Given the description of an element on the screen output the (x, y) to click on. 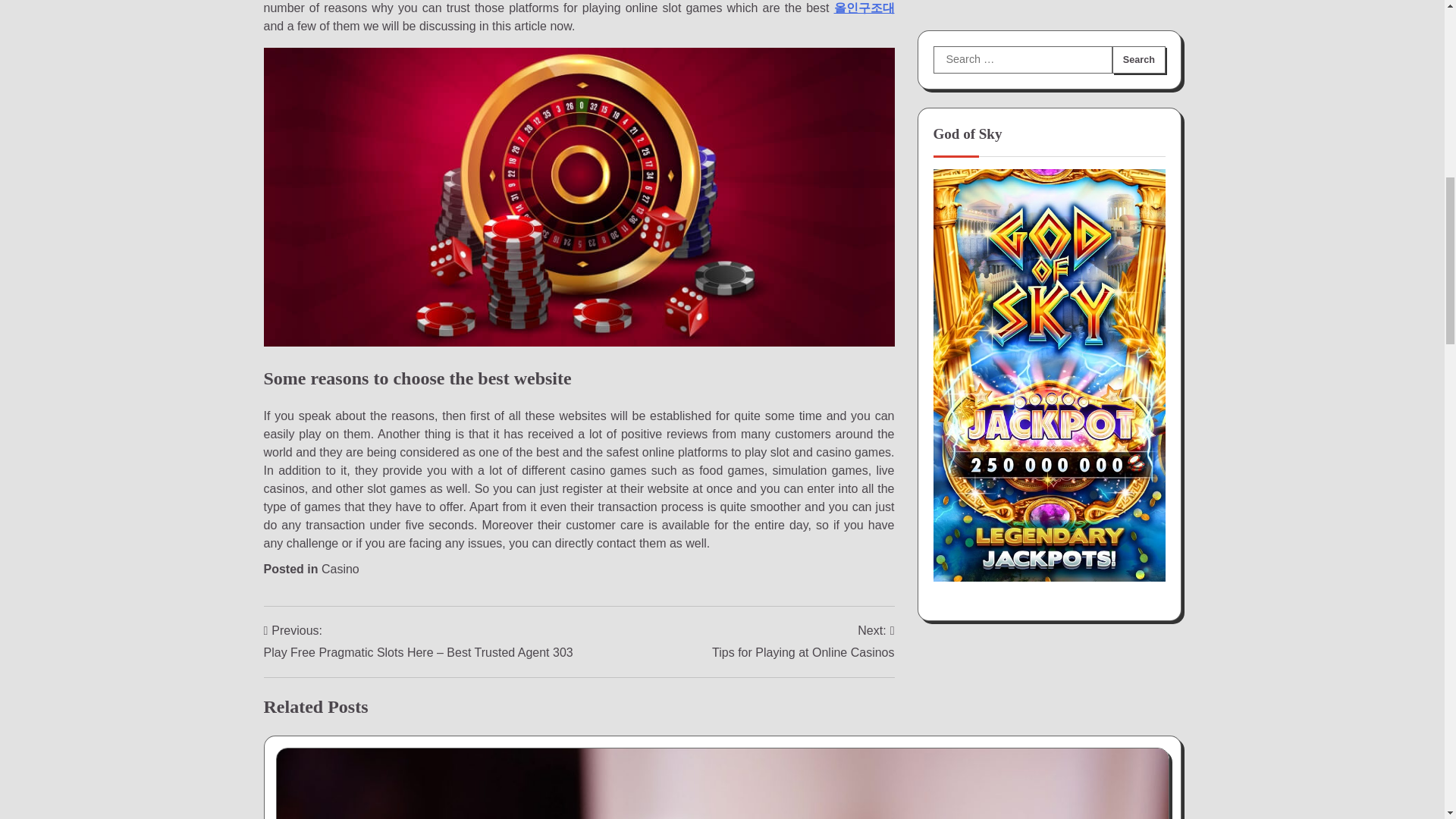
Casino (340, 568)
